Given the description of an element on the screen output the (x, y) to click on. 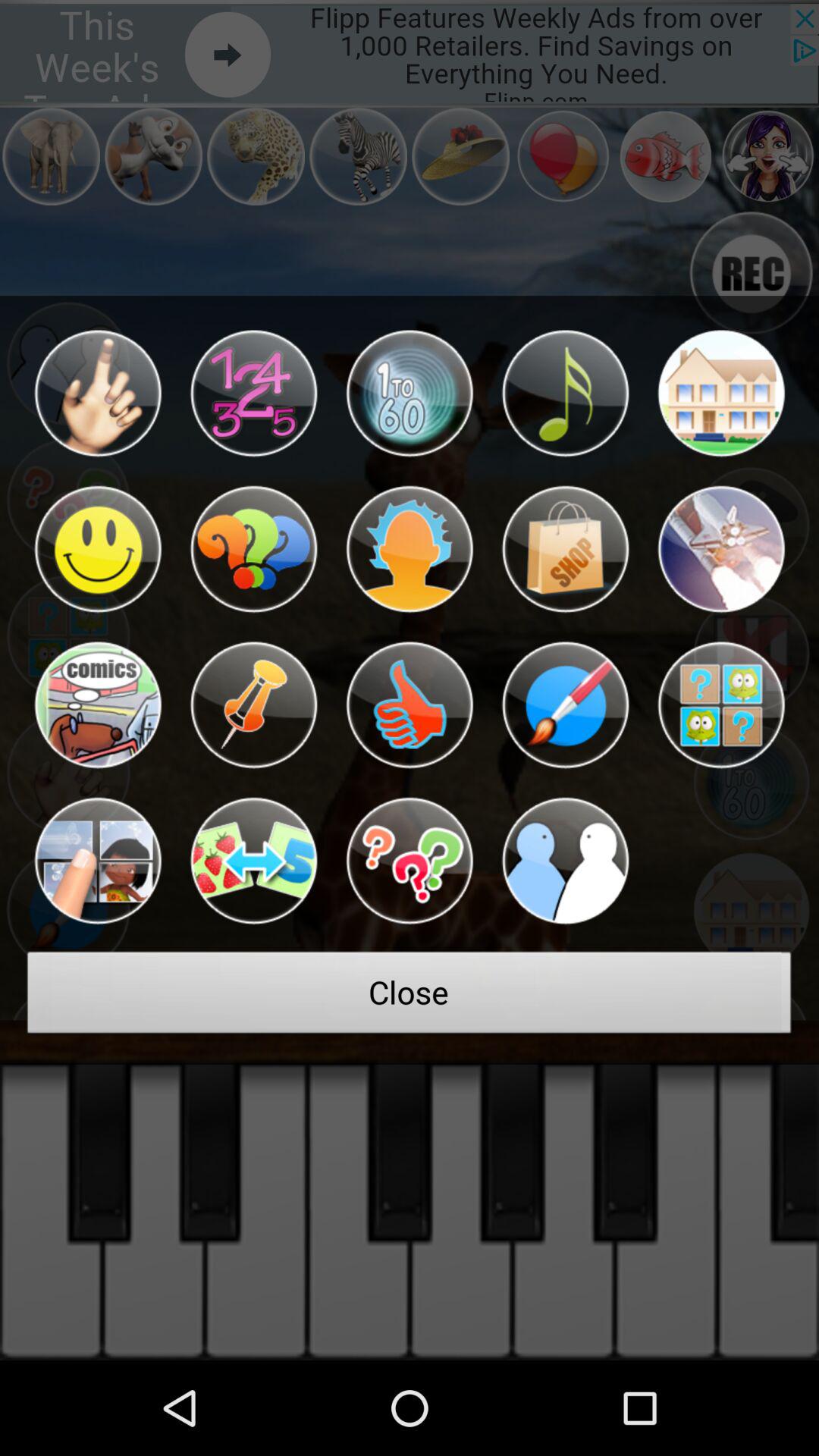
go to autoplay option (409, 705)
